Given the description of an element on the screen output the (x, y) to click on. 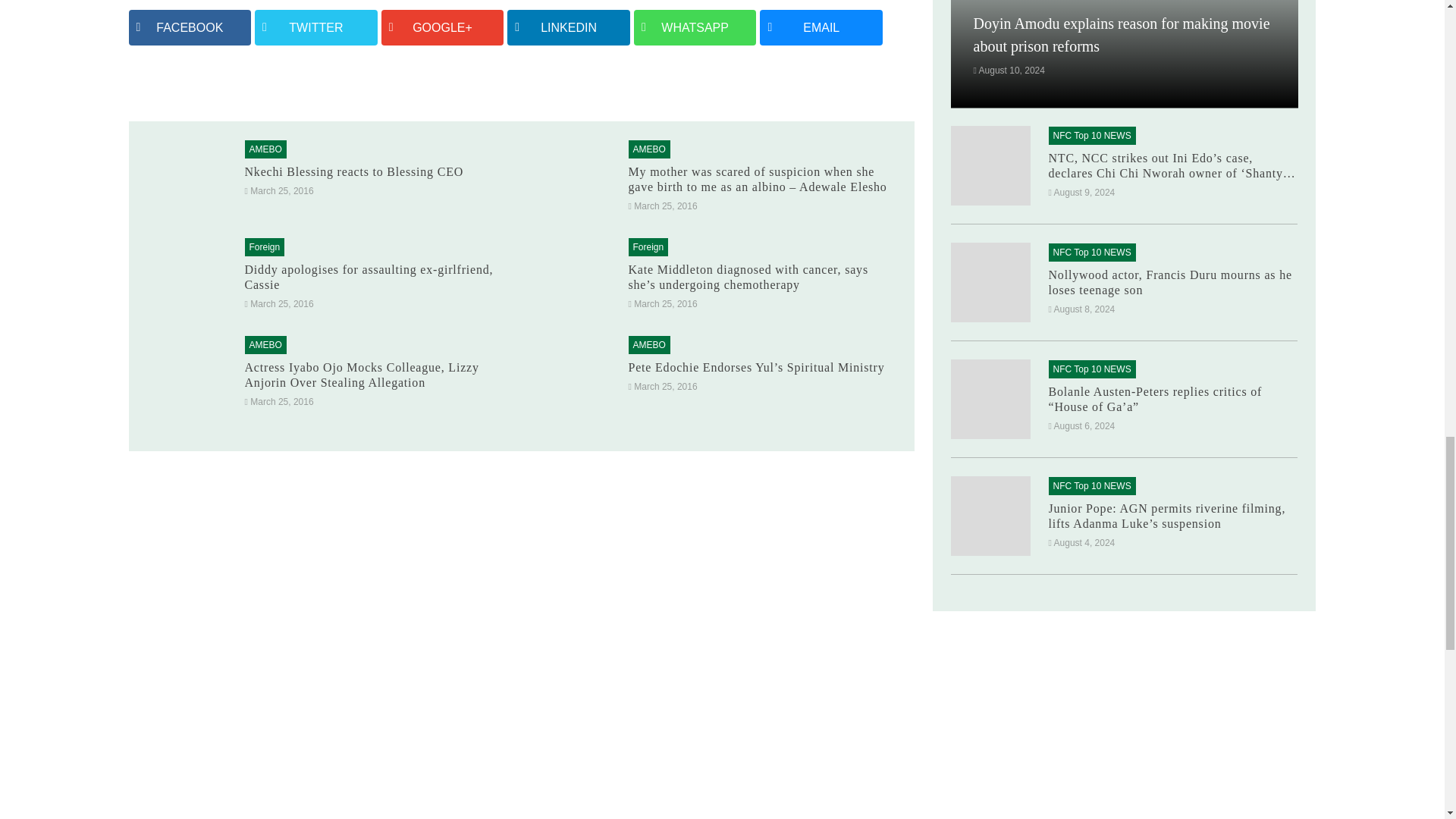
whatsapp (695, 27)
facebook (190, 27)
googleplus (442, 27)
linkedin (568, 27)
twitter (315, 27)
